Given the description of an element on the screen output the (x, y) to click on. 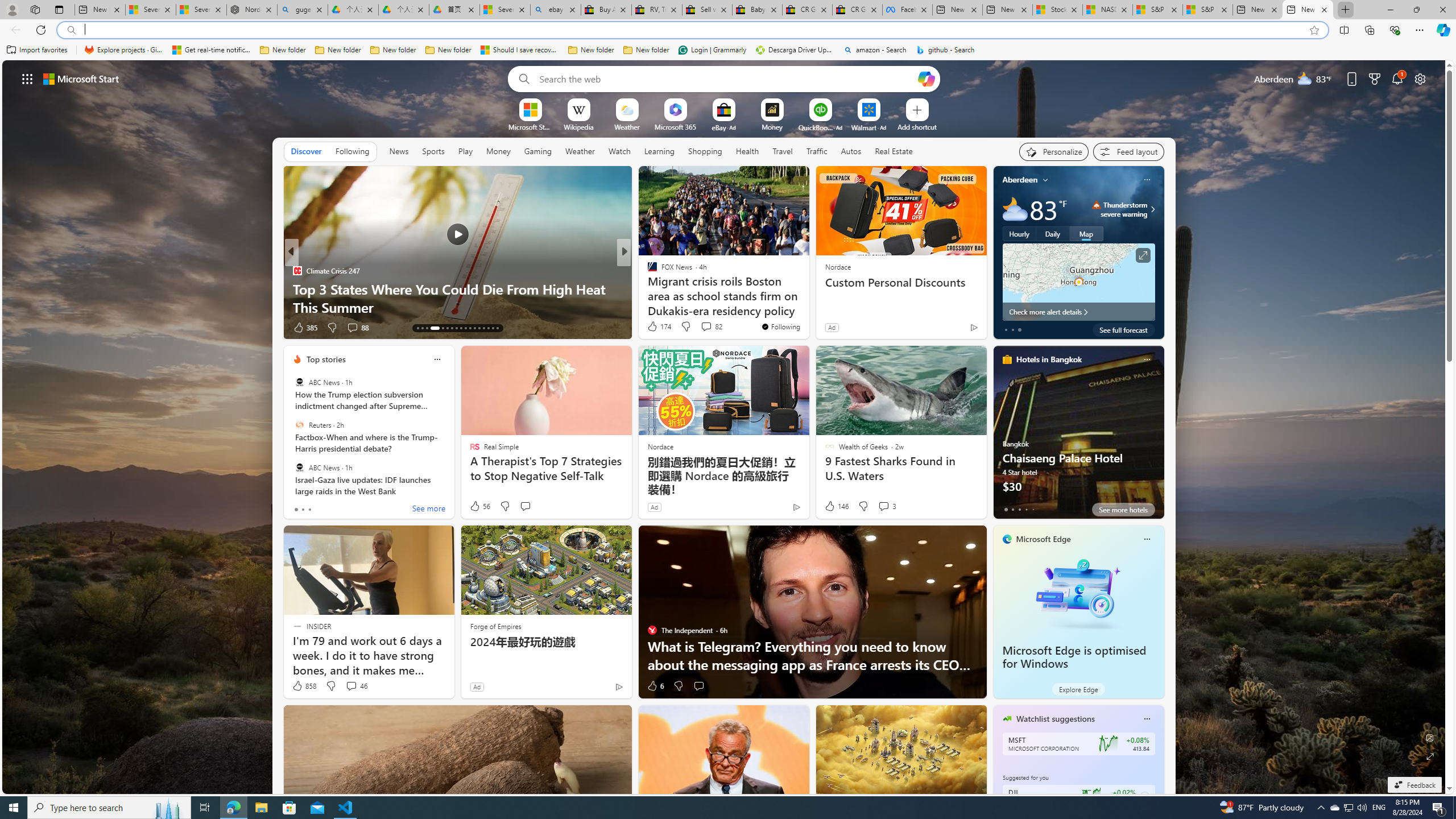
Gaming (537, 151)
See full forecast (1123, 329)
Map (1085, 233)
Top stories (325, 359)
Class: weather-arrow-glyph (1152, 208)
View comments 88 Comment (357, 327)
Microsoft Edge is optimised for Windows (1077, 592)
See more hotels (1123, 509)
AutomationID: waffle (27, 78)
RV, Trailer & Camper Steps & Ladders for sale | eBay (656, 9)
Enter your search term (726, 78)
